Given the description of an element on the screen output the (x, y) to click on. 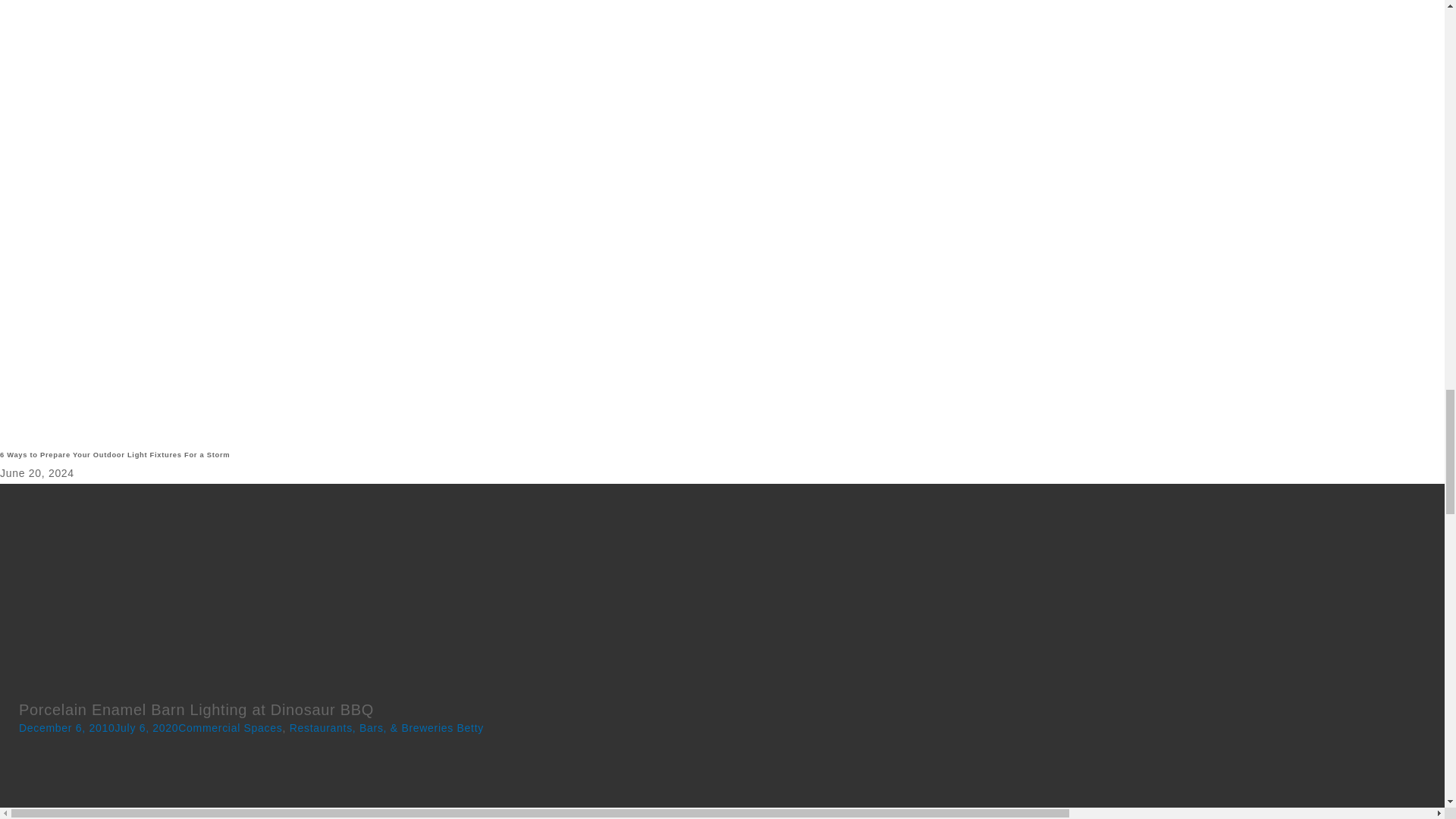
6 Ways to Prepare Your Outdoor Light Fixtures For a Storm (722, 462)
barn-light-electric-porcelain-pendant-lighting (350, 780)
